Given the description of an element on the screen output the (x, y) to click on. 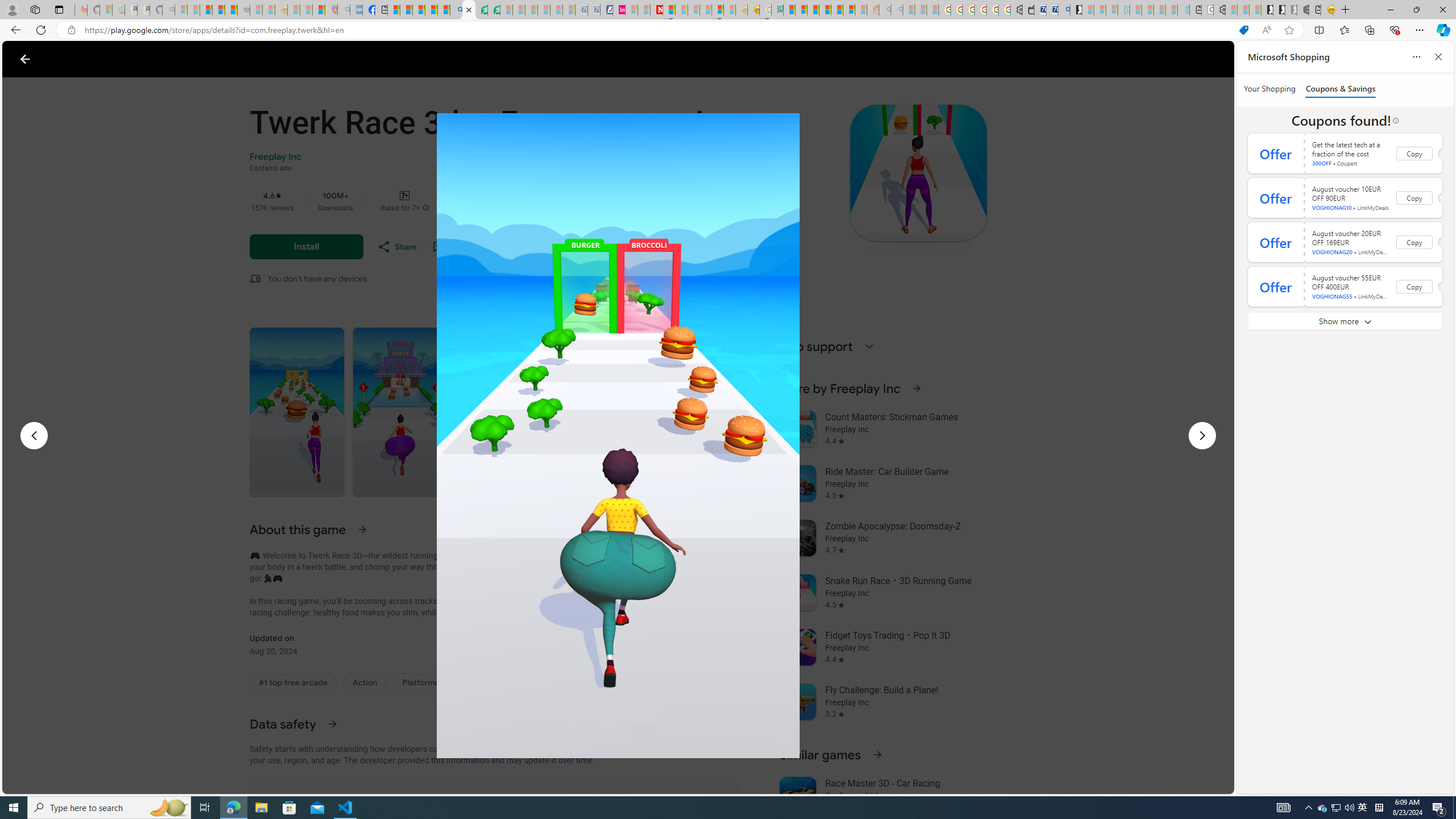
Apps (185, 58)
Microsoft Word - consumer-privacy address update 2.2021 (494, 9)
Class: ULeU3b Utde2e (710, 412)
